Given the description of an element on the screen output the (x, y) to click on. 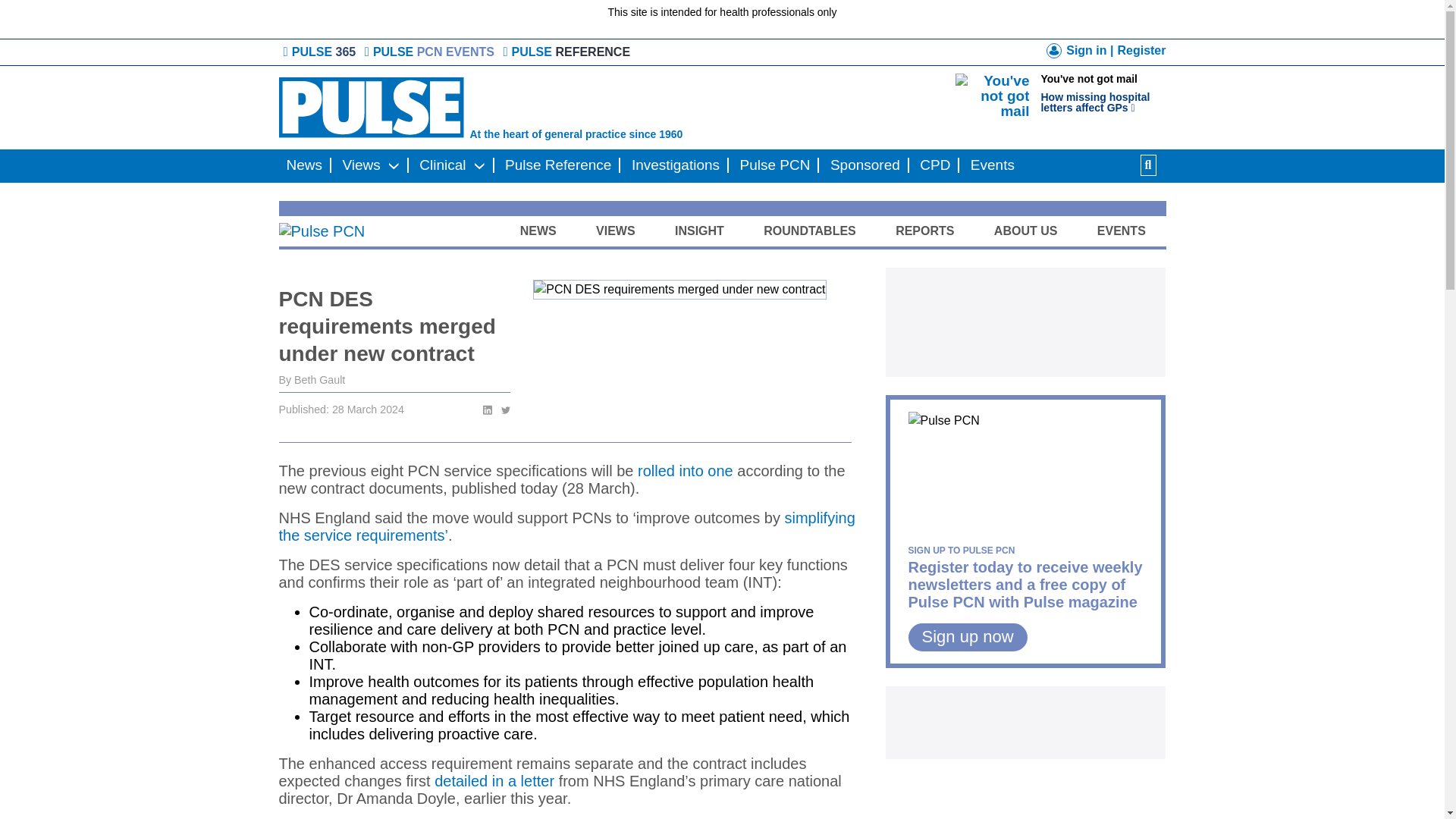
At the heart of general practice since 1960 (564, 107)
News (304, 165)
PULSE PCN EVENTS (1108, 93)
Clinical (431, 51)
Pulse PCN (442, 165)
Sponsored (775, 165)
Investigations (864, 165)
Events (675, 165)
PULSE REFERENCE (992, 165)
